Given the description of an element on the screen output the (x, y) to click on. 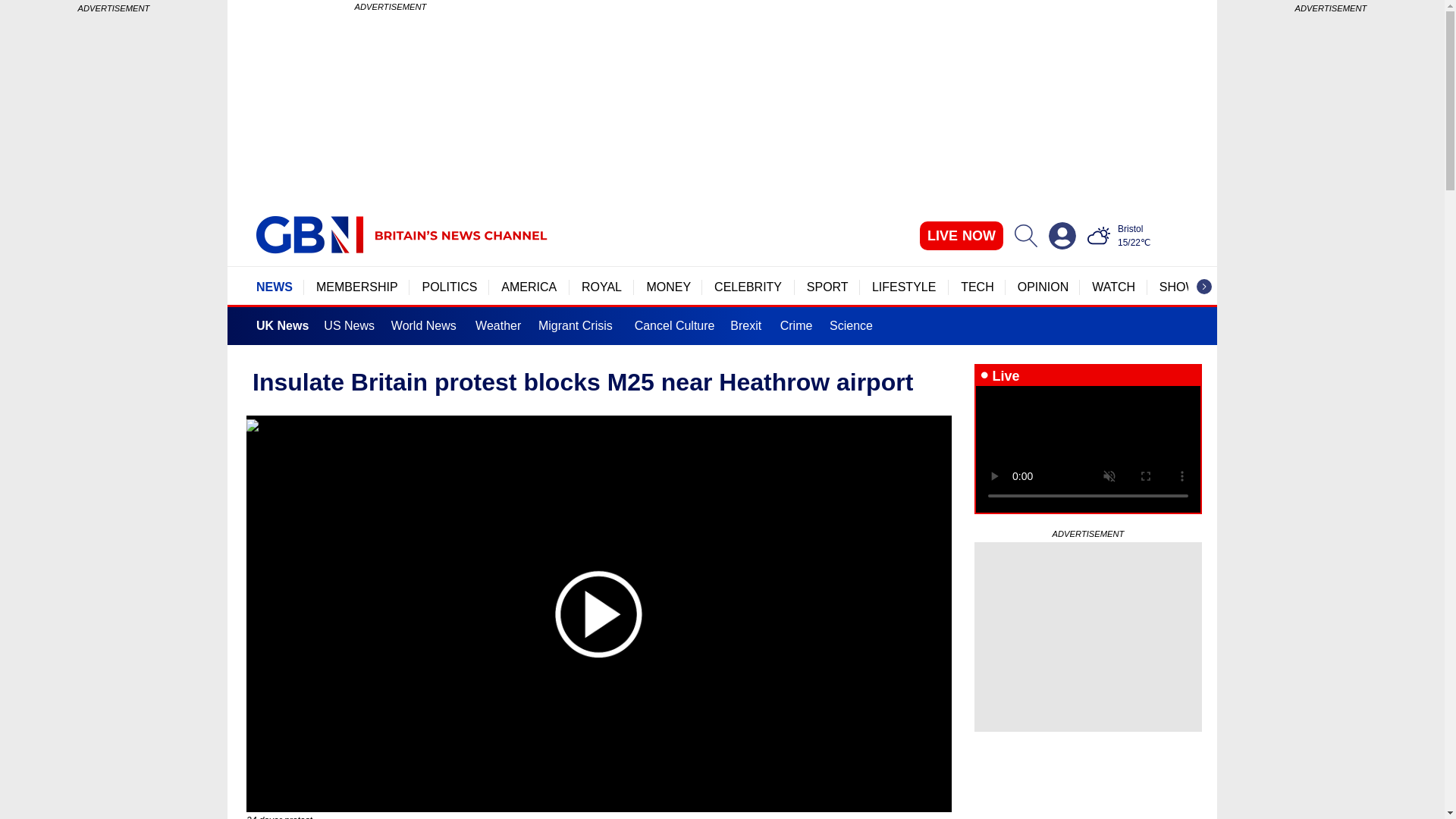
Search (1025, 235)
GBN Britain's News Channel (310, 235)
LIVE (961, 235)
